Given the description of an element on the screen output the (x, y) to click on. 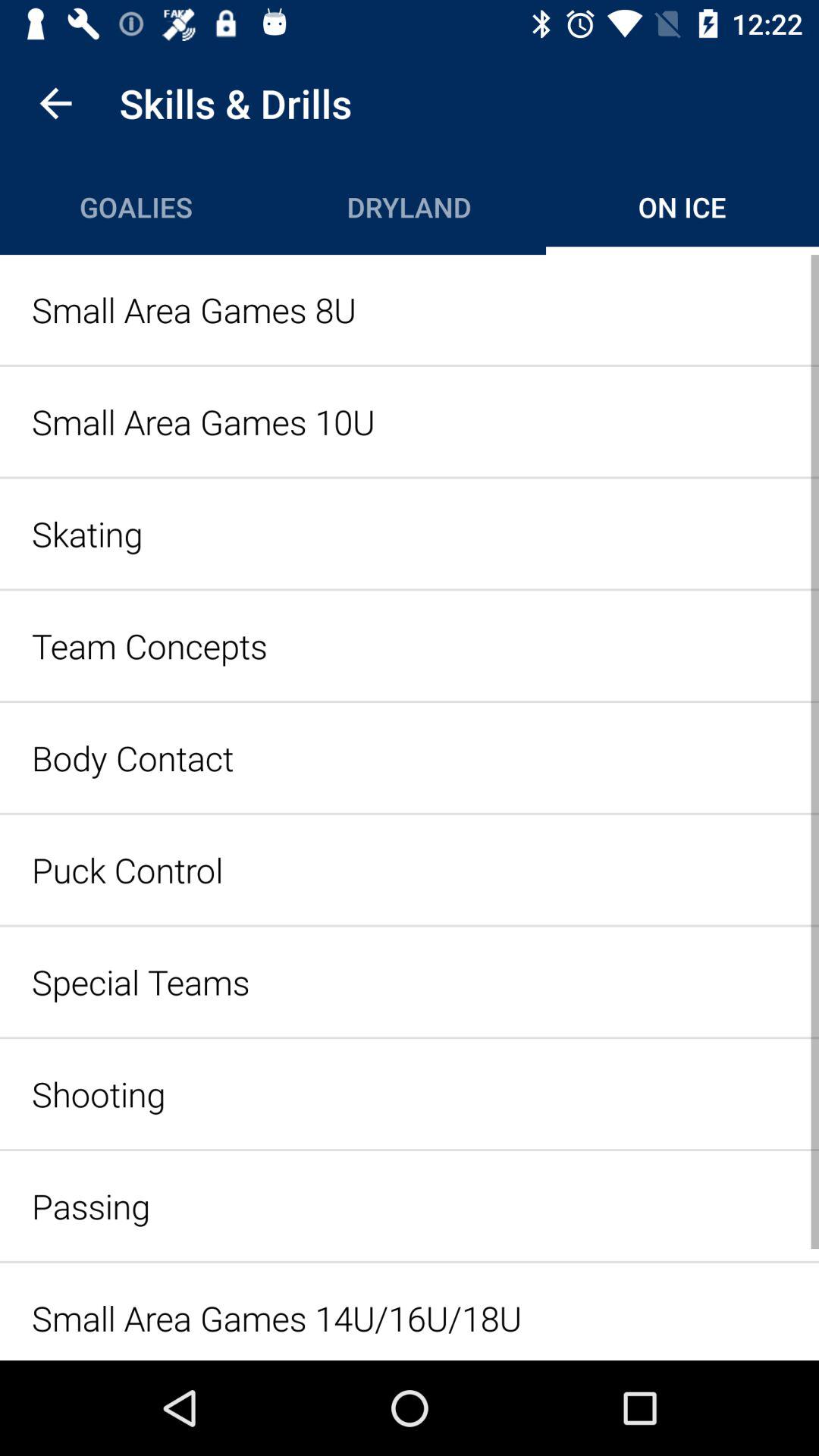
jump to special teams icon (409, 981)
